Given the description of an element on the screen output the (x, y) to click on. 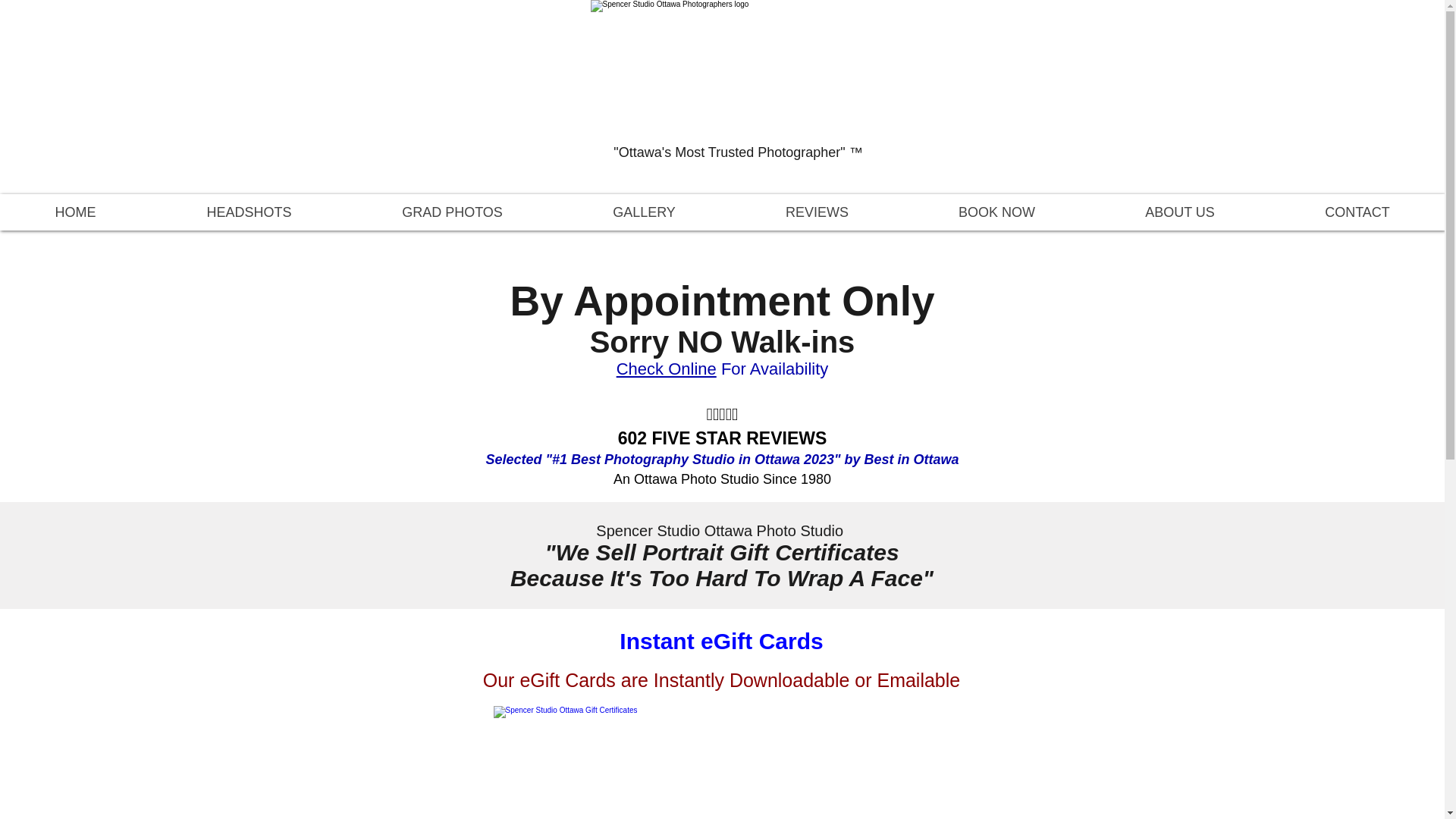
"Ottawa's Most Trusted Photographer" (737, 67)
GRAD PHOTOS (451, 212)
BOOK NOW (995, 212)
REVIEWS (816, 212)
GALLERY (643, 212)
HOME (75, 212)
HEADSHOTS (248, 212)
CLICK HERE TO ORDER GIFT CARD (720, 762)
Check Online (665, 368)
